Given the description of an element on the screen output the (x, y) to click on. 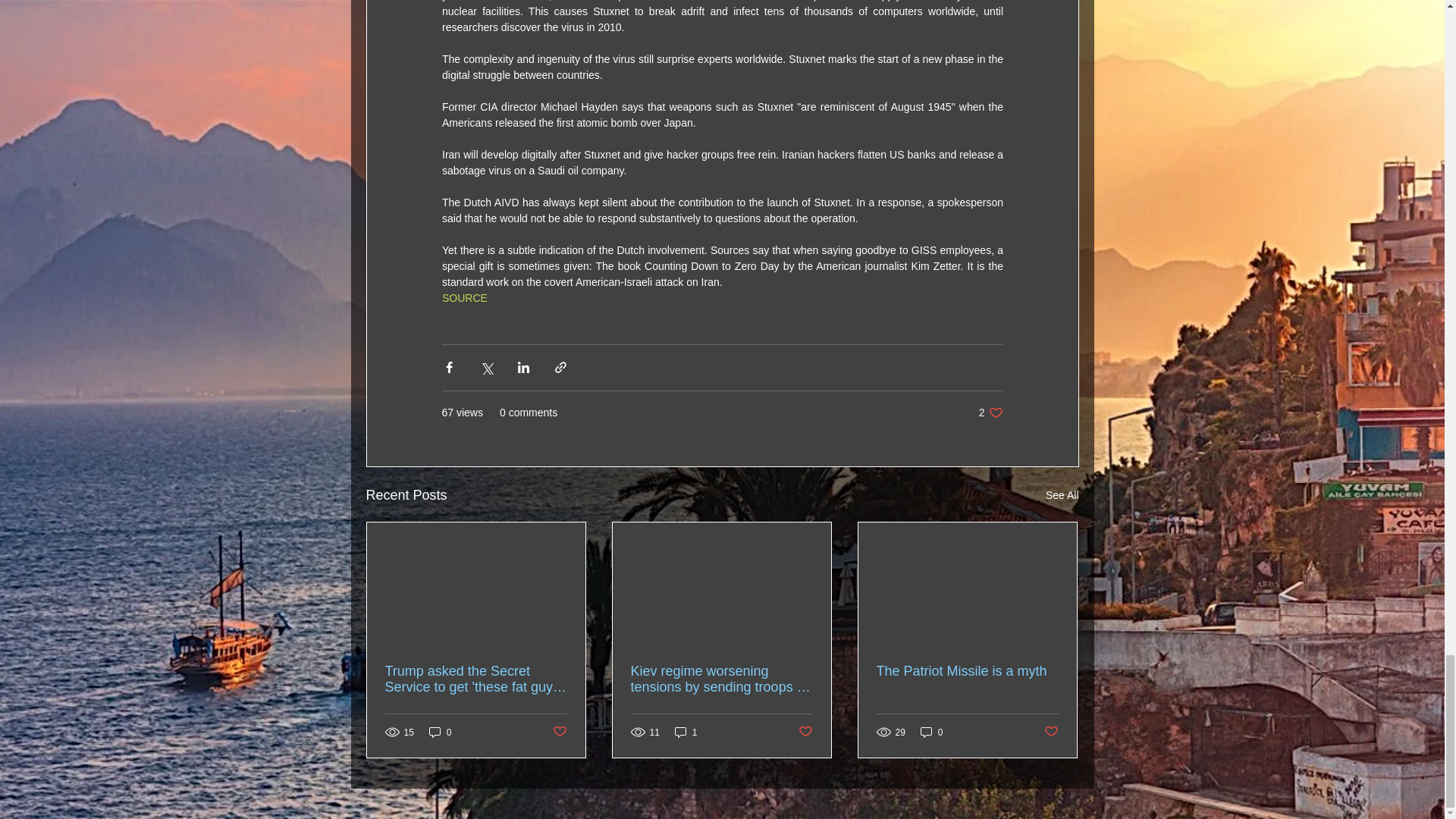
The Patriot Missile is a myth (967, 671)
See All (1061, 495)
1 (685, 731)
0 (440, 731)
0 (931, 731)
Post not marked as liked (990, 412)
Post not marked as liked (804, 731)
SOURCE (1050, 731)
Post not marked as liked (463, 297)
